Given the description of an element on the screen output the (x, y) to click on. 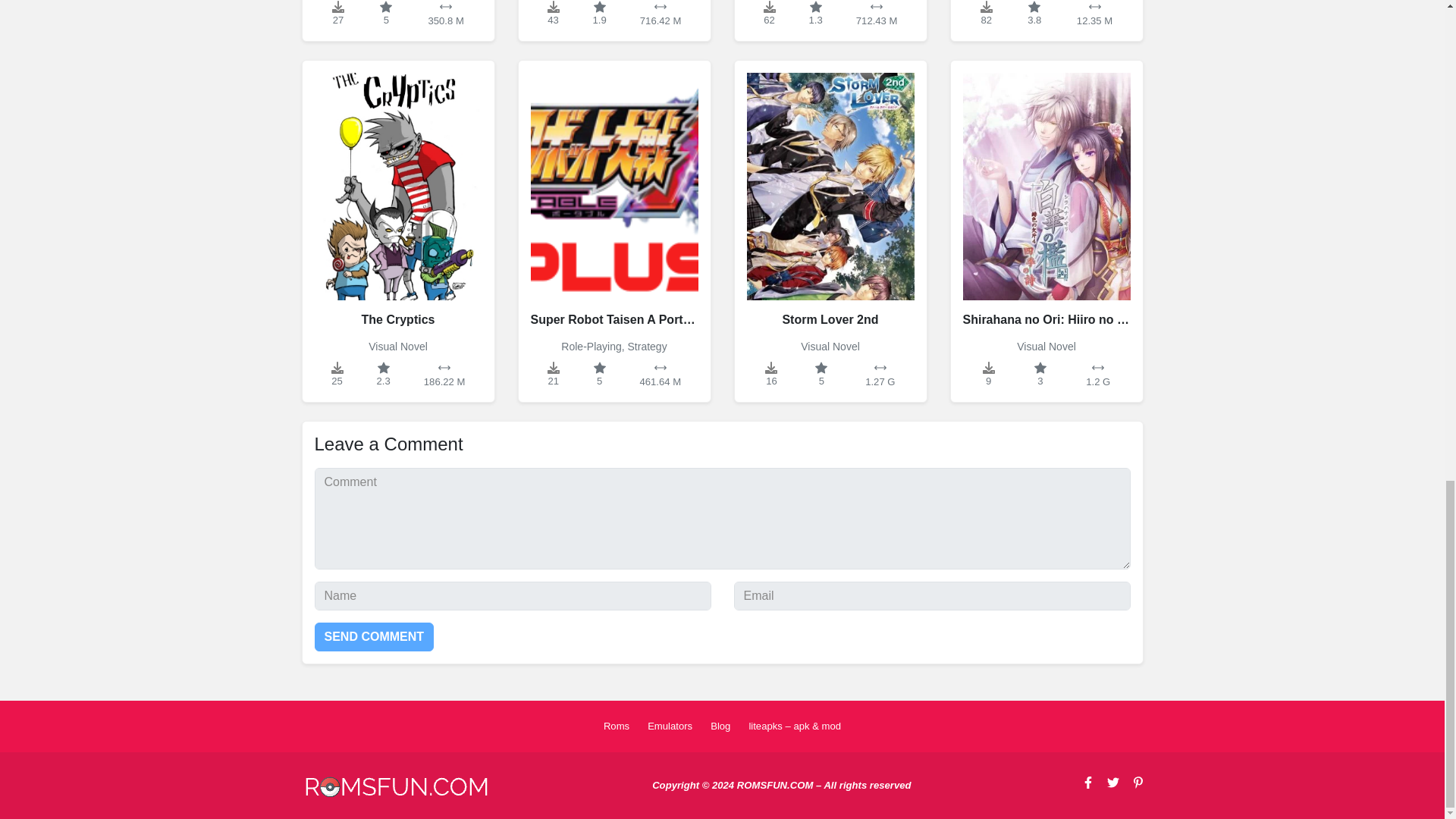
Role-Playing (590, 346)
ROMSFUN.COM (396, 786)
Super Robot Taisen A Portable Plus (614, 199)
Storm Lover 2nd (829, 199)
Visual Novel (398, 346)
Strategy (646, 346)
The Cryptics (397, 199)
